Given the description of an element on the screen output the (x, y) to click on. 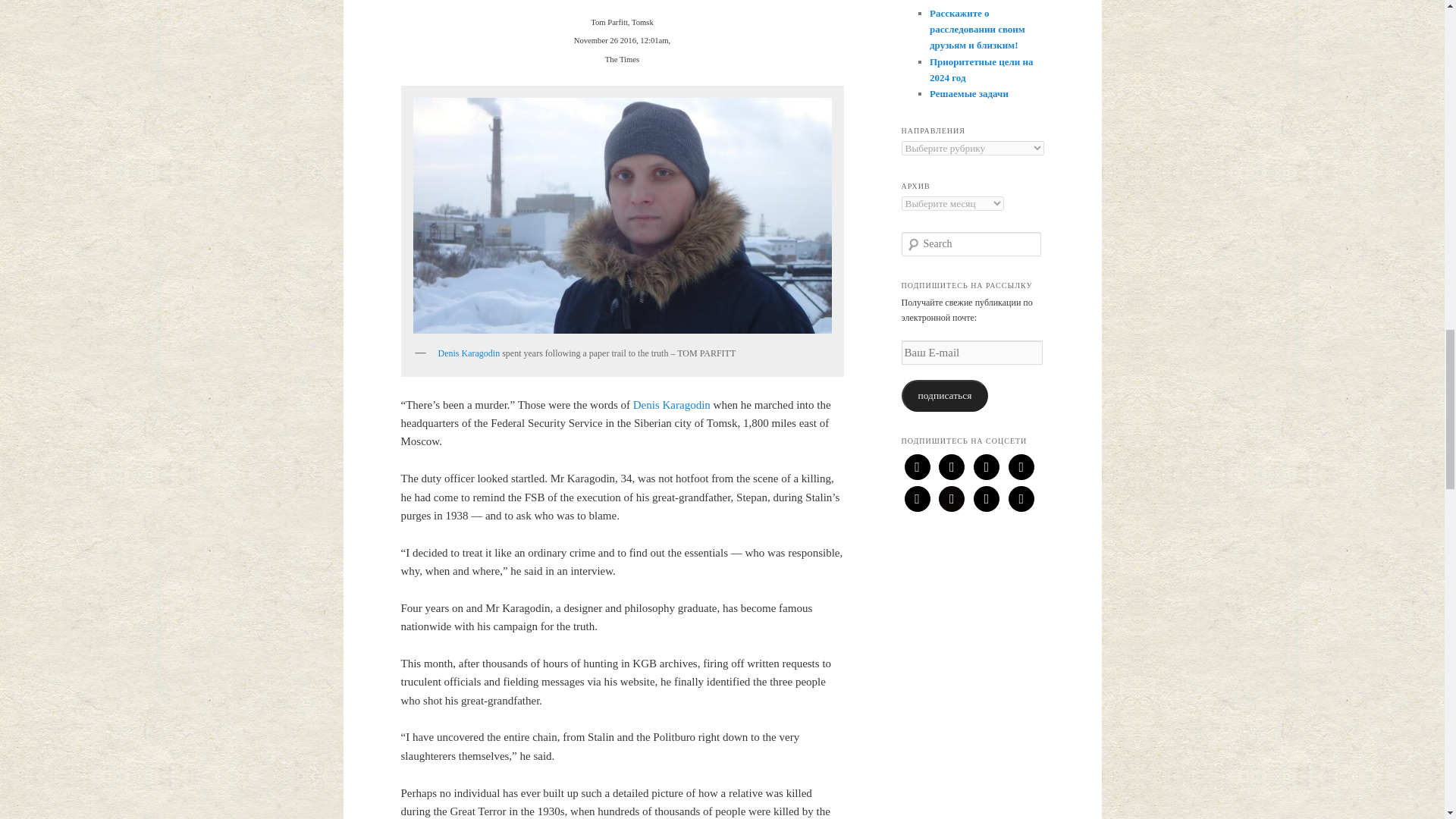
Friend me on Facebook (1021, 465)
Default Label (1021, 497)
Default Label (986, 465)
Default Label (917, 497)
Follow Me (951, 465)
